Given the description of an element on the screen output the (x, y) to click on. 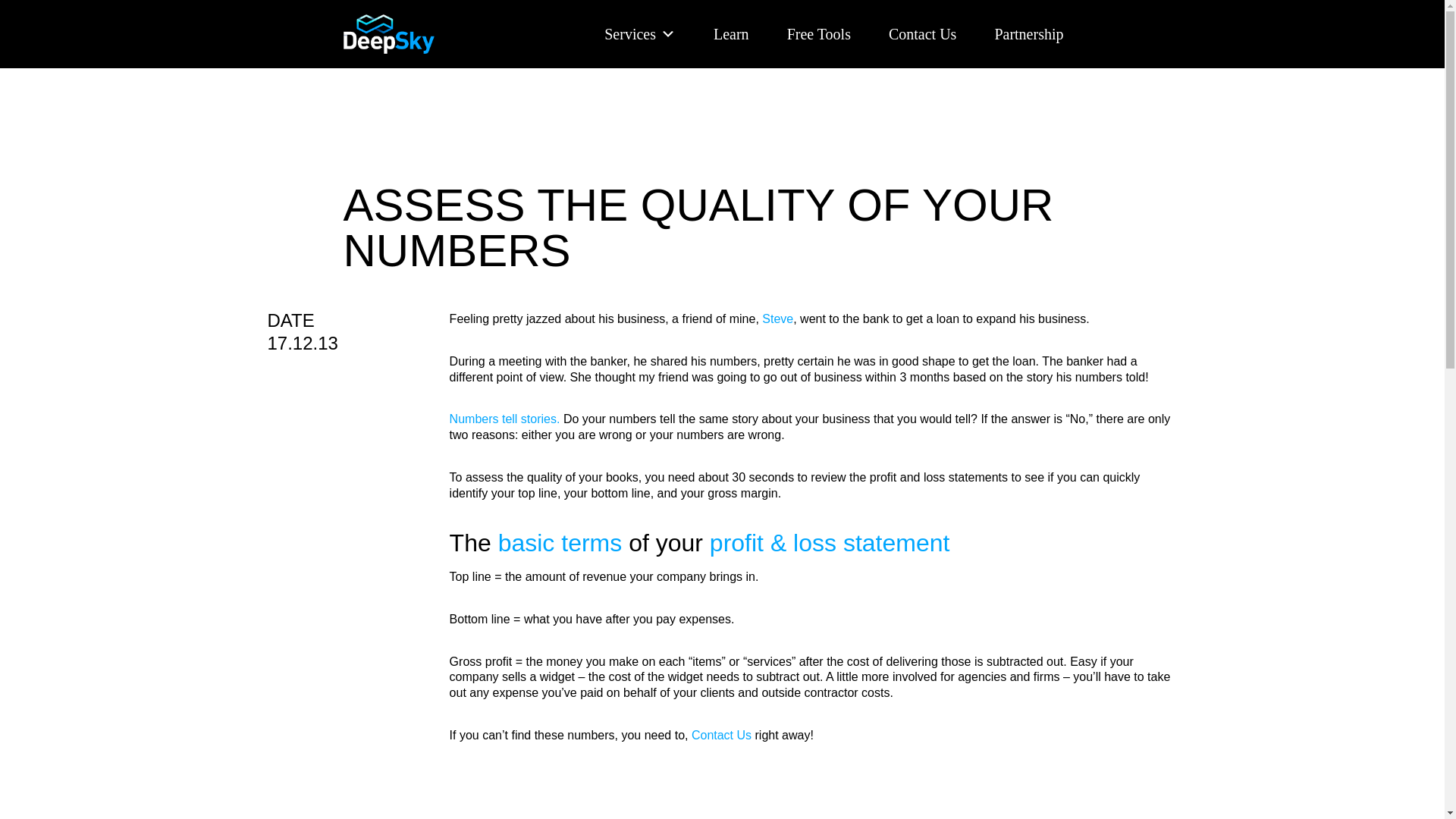
Free Tools (818, 15)
Learn (731, 13)
Contact Us (922, 16)
Services (639, 0)
Partnership (1028, 18)
